Given the description of an element on the screen output the (x, y) to click on. 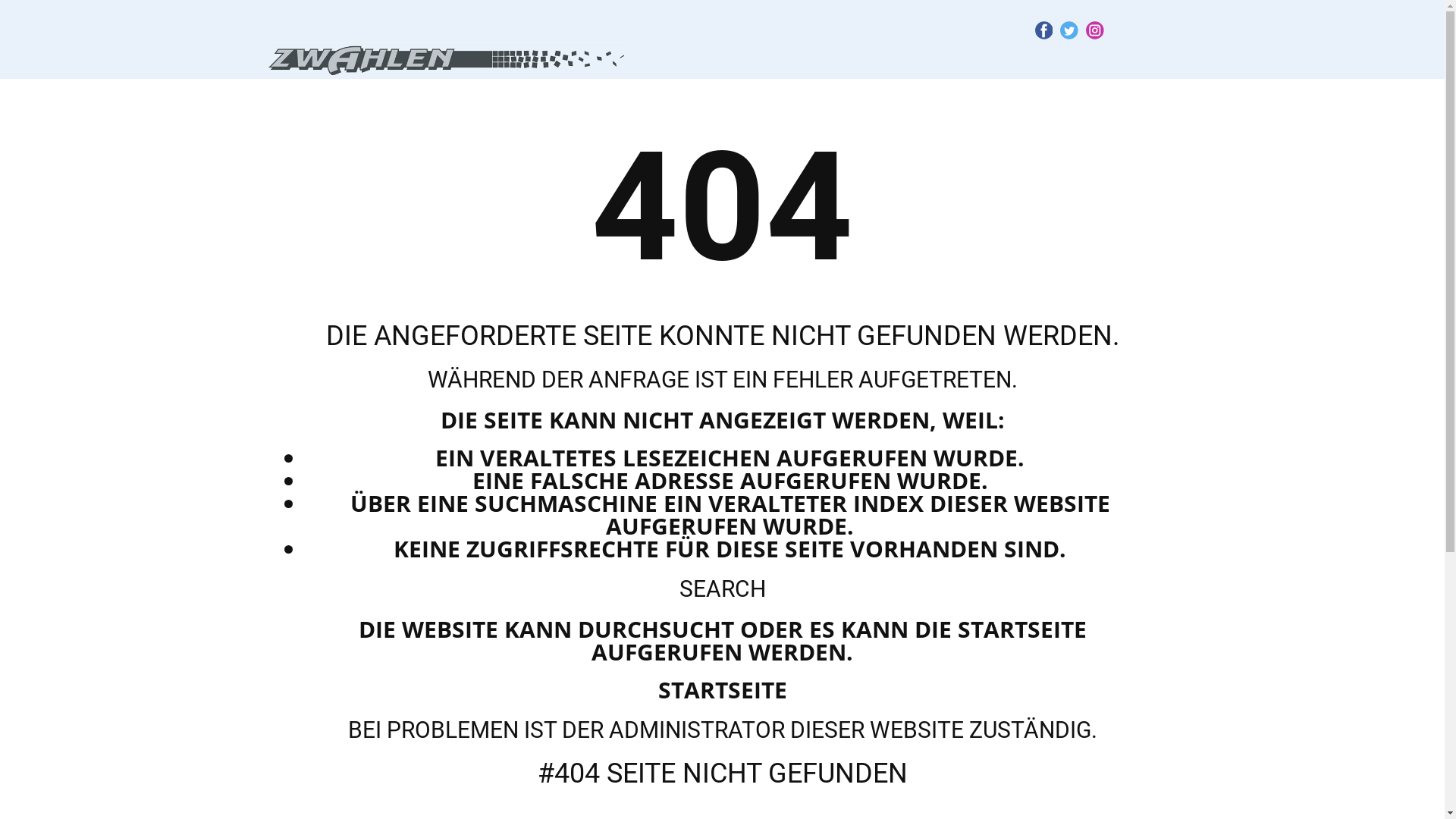
STARTSEITE Element type: text (722, 689)
instagram Element type: hover (1094, 30)
twitter Element type: hover (1069, 30)
facebook Element type: hover (1043, 30)
